Given the description of an element on the screen output the (x, y) to click on. 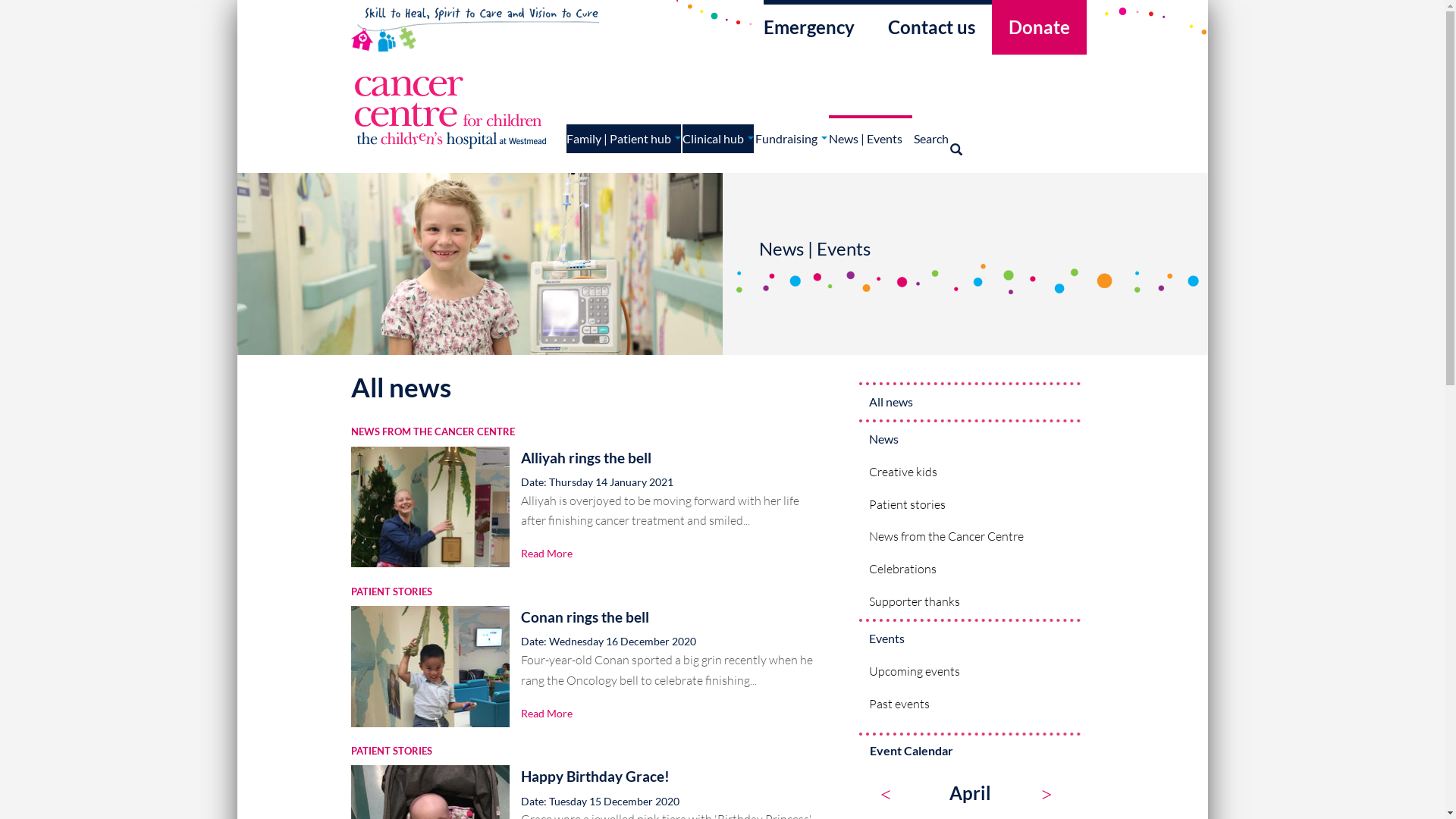
Happy Birthday Grace! Element type: text (594, 776)
Home Element type: hover (452, 110)
Patient Stories A Element type: text (957, 136)
Upcoming events Element type: text (969, 671)
Read More Element type: text (546, 712)
Clinical hub Element type: text (717, 138)
Past events Element type: text (969, 703)
PATIENT STORIES Element type: text (390, 591)
Conan rings the bell Element type: text (584, 616)
Alliyah rings the bell Element type: text (585, 457)
April Element type: text (970, 792)
News | Events Element type: text (870, 134)
Skip to main content Element type: text (236, 0)
Celebrations Element type: text (969, 568)
Contact us Element type: text (930, 27)
Donate Element type: text (1038, 27)
News Element type: text (969, 439)
Events Element type: text (969, 638)
Creative kids Element type: text (969, 471)
All news Element type: text (969, 401)
NEWS FROM THE CANCER CENTRE Element type: text (432, 431)
PATIENT STORIES Element type: text (390, 750)
Read More Element type: text (546, 552)
Emergency Element type: text (816, 27)
News from the Cancer Centre Element type: text (969, 536)
Search Element type: text (930, 134)
Fundraising Element type: text (791, 134)
Supporter thanks Element type: text (969, 601)
Patient stories Element type: text (969, 504)
Family | Patient hub Element type: text (623, 138)
